Given the description of an element on the screen output the (x, y) to click on. 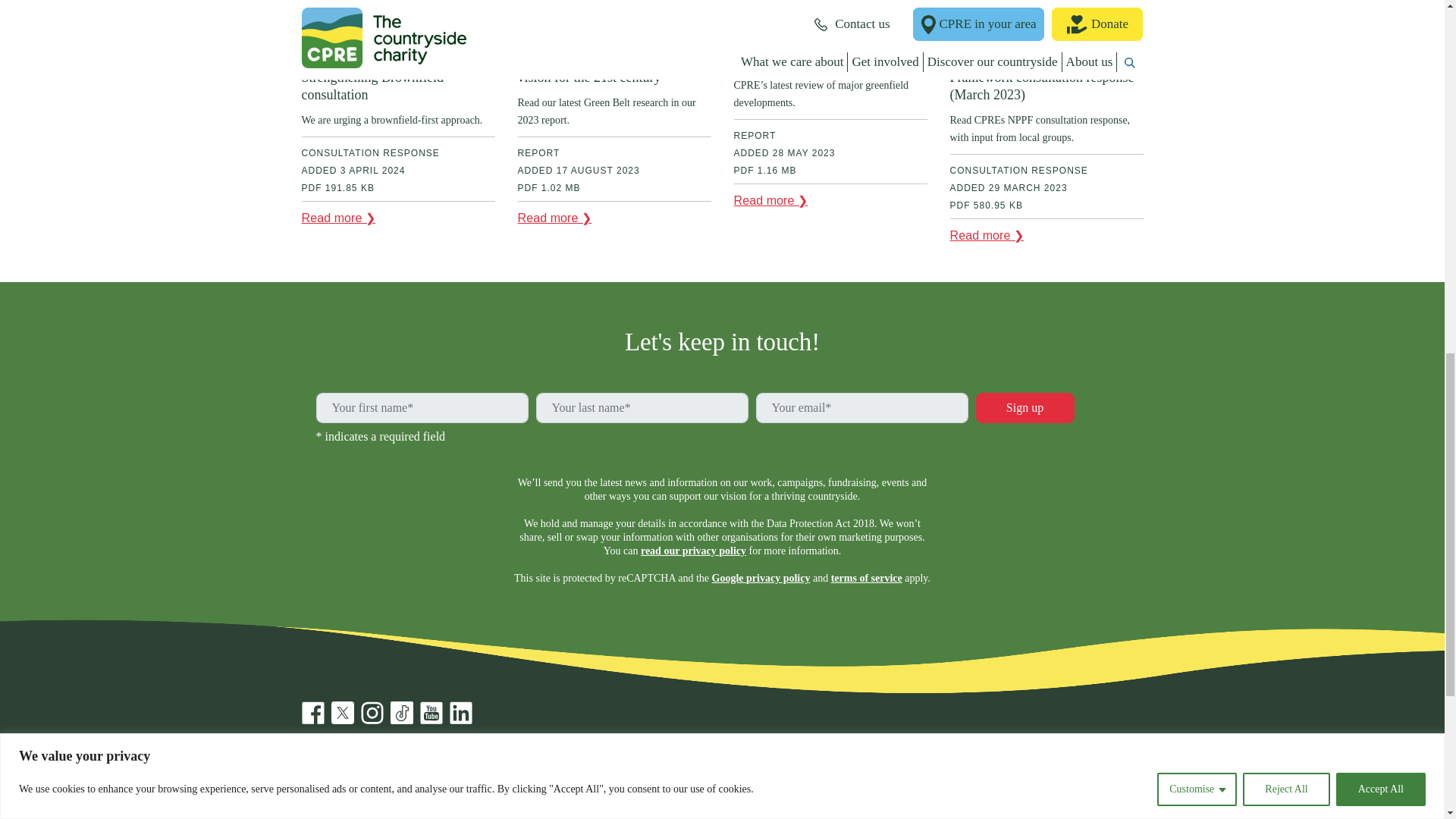
Sign up (1024, 408)
